Given the description of an element on the screen output the (x, y) to click on. 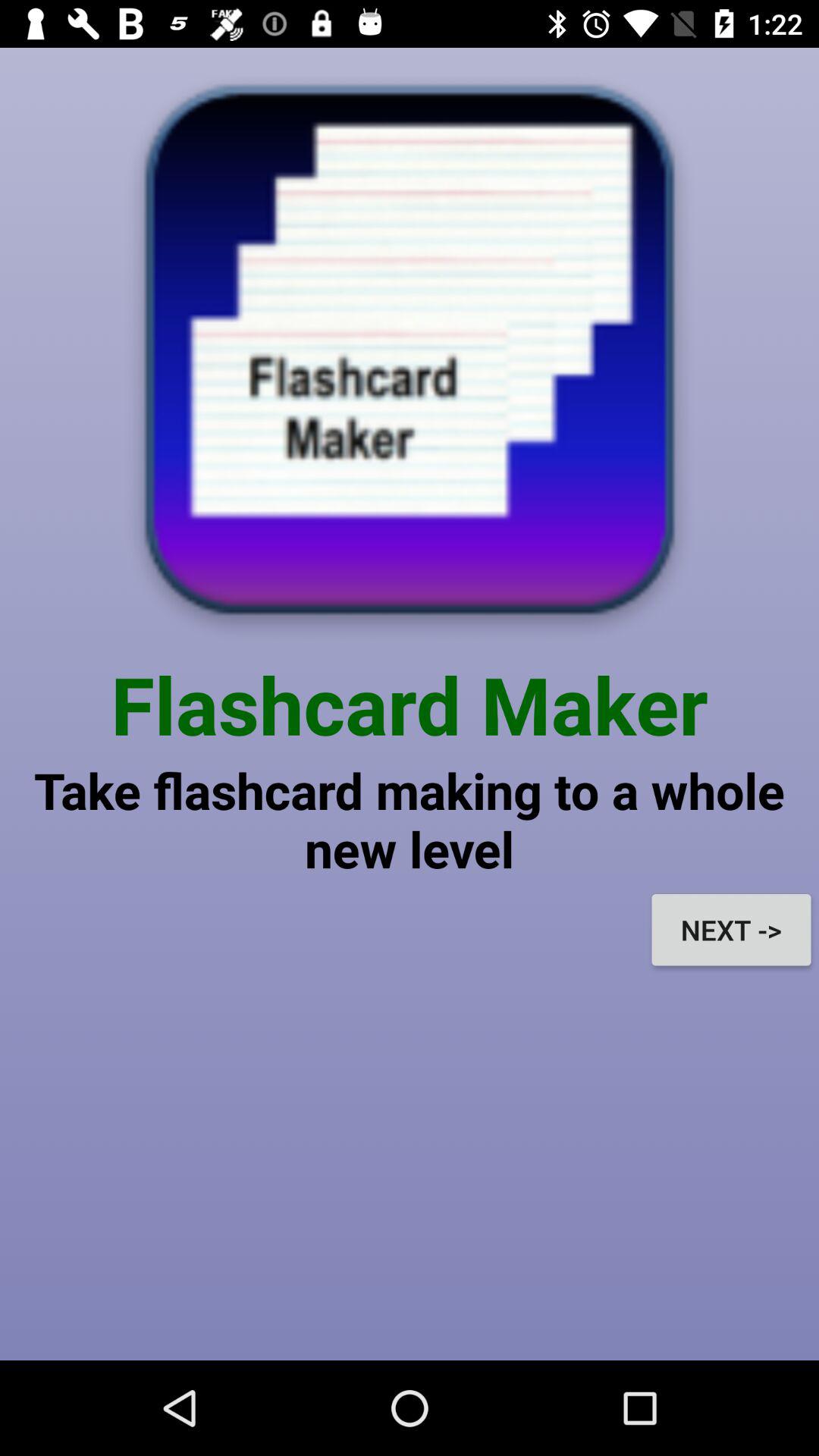
scroll until the next -> (731, 929)
